Given the description of an element on the screen output the (x, y) to click on. 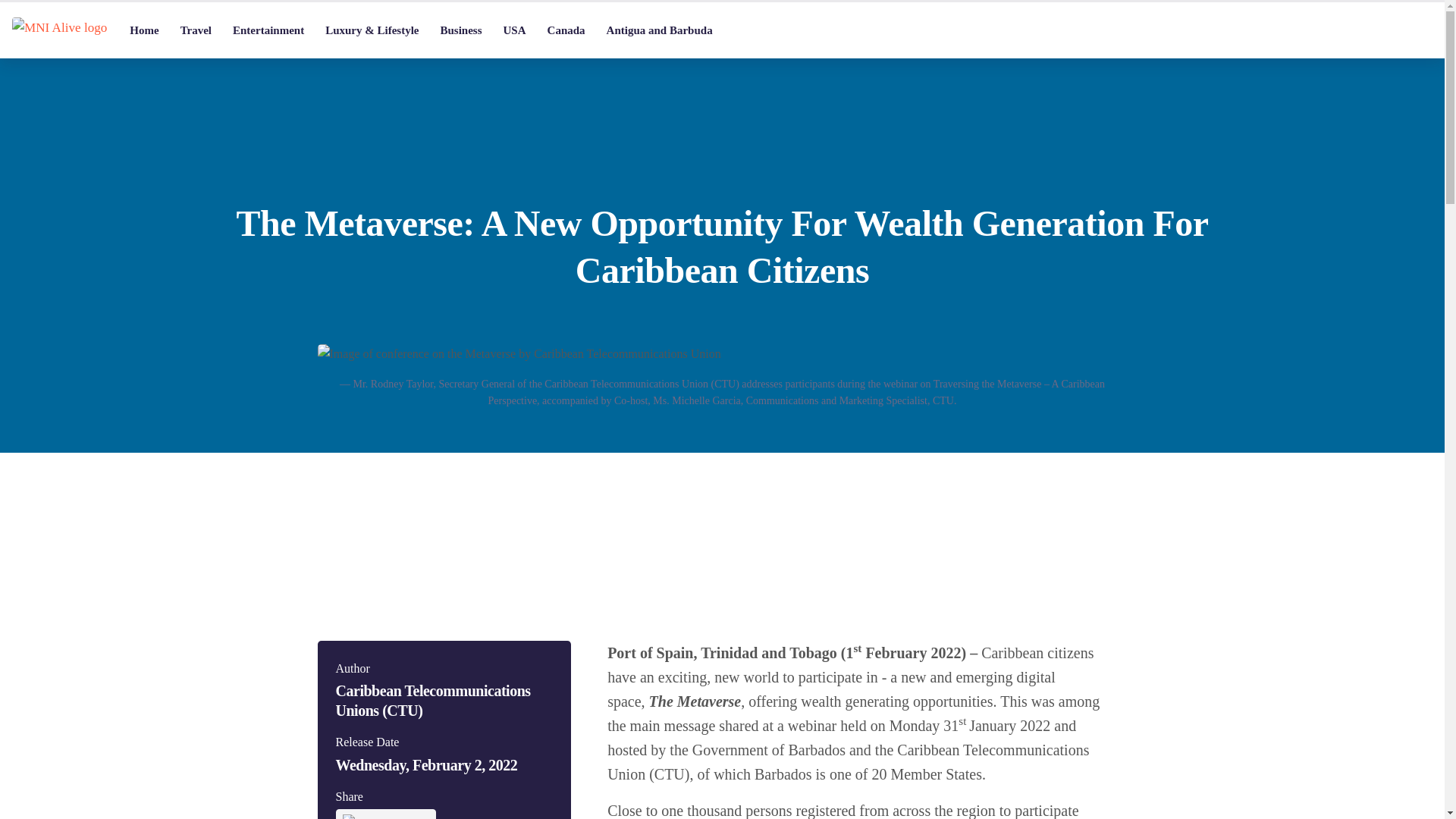
Advertisement (721, 510)
Canada (566, 30)
Entertainment (268, 30)
Share on Facebook (384, 814)
Business (460, 30)
Home (143, 30)
USA (515, 30)
Antigua and Barbuda (659, 30)
Travel (196, 30)
